Given the description of an element on the screen output the (x, y) to click on. 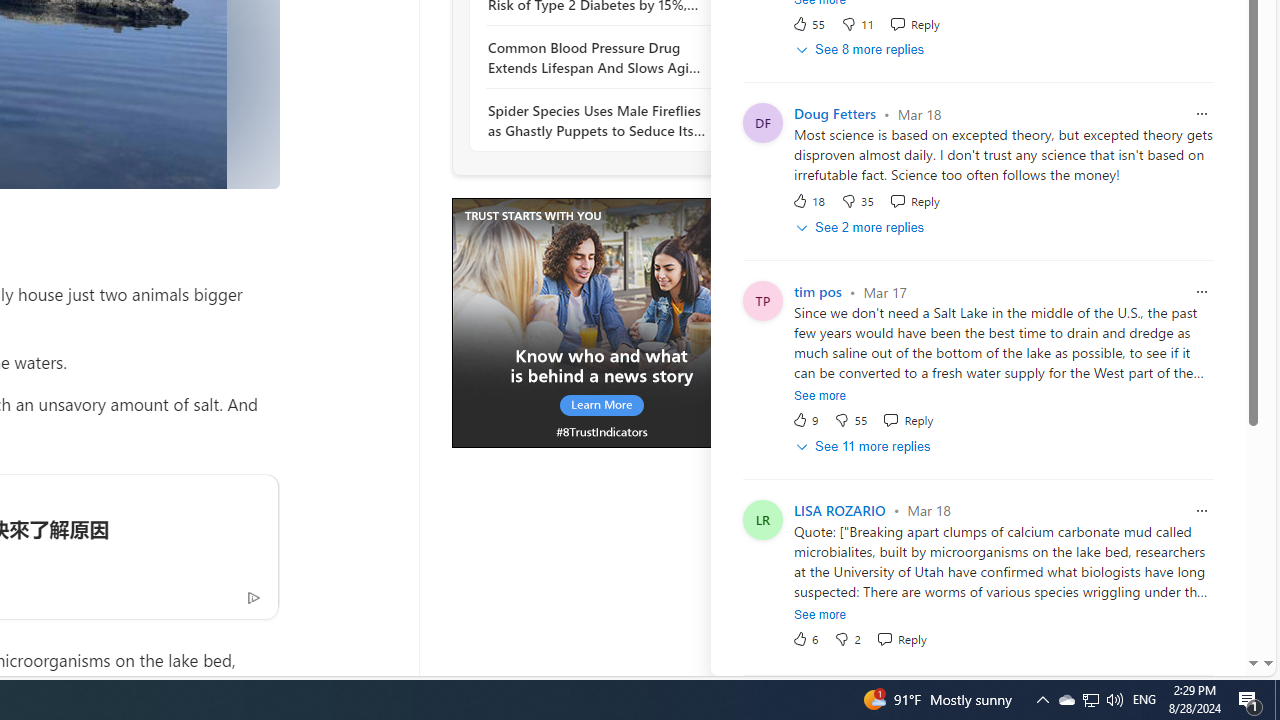
tim pos (817, 292)
To get missing image descriptions, open the context menu. (601, 324)
Report comment (1201, 510)
6 Like (804, 637)
55 Like (808, 23)
